Given the description of an element on the screen output the (x, y) to click on. 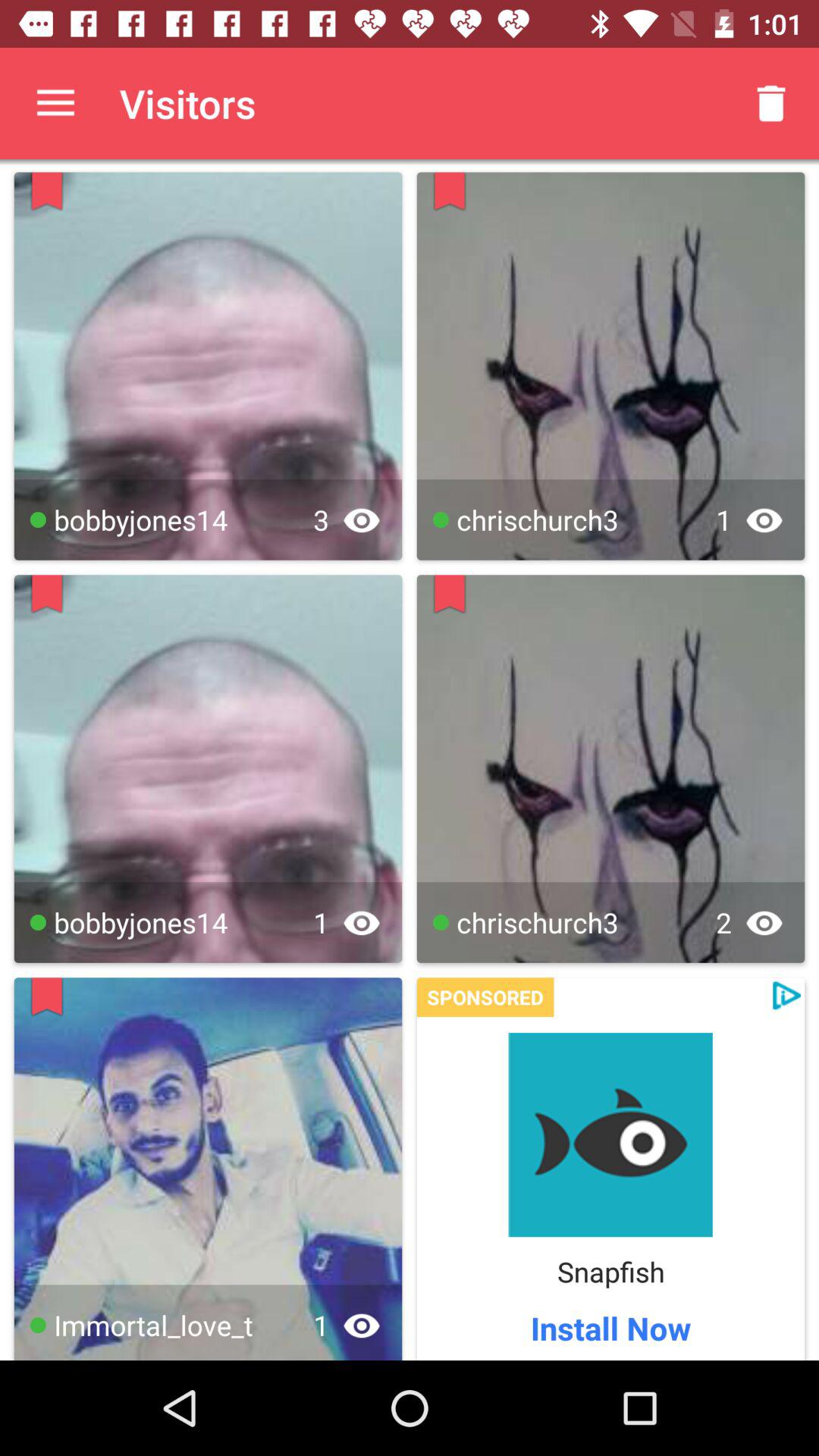
turn off the sponsored (484, 996)
